Given the description of an element on the screen output the (x, y) to click on. 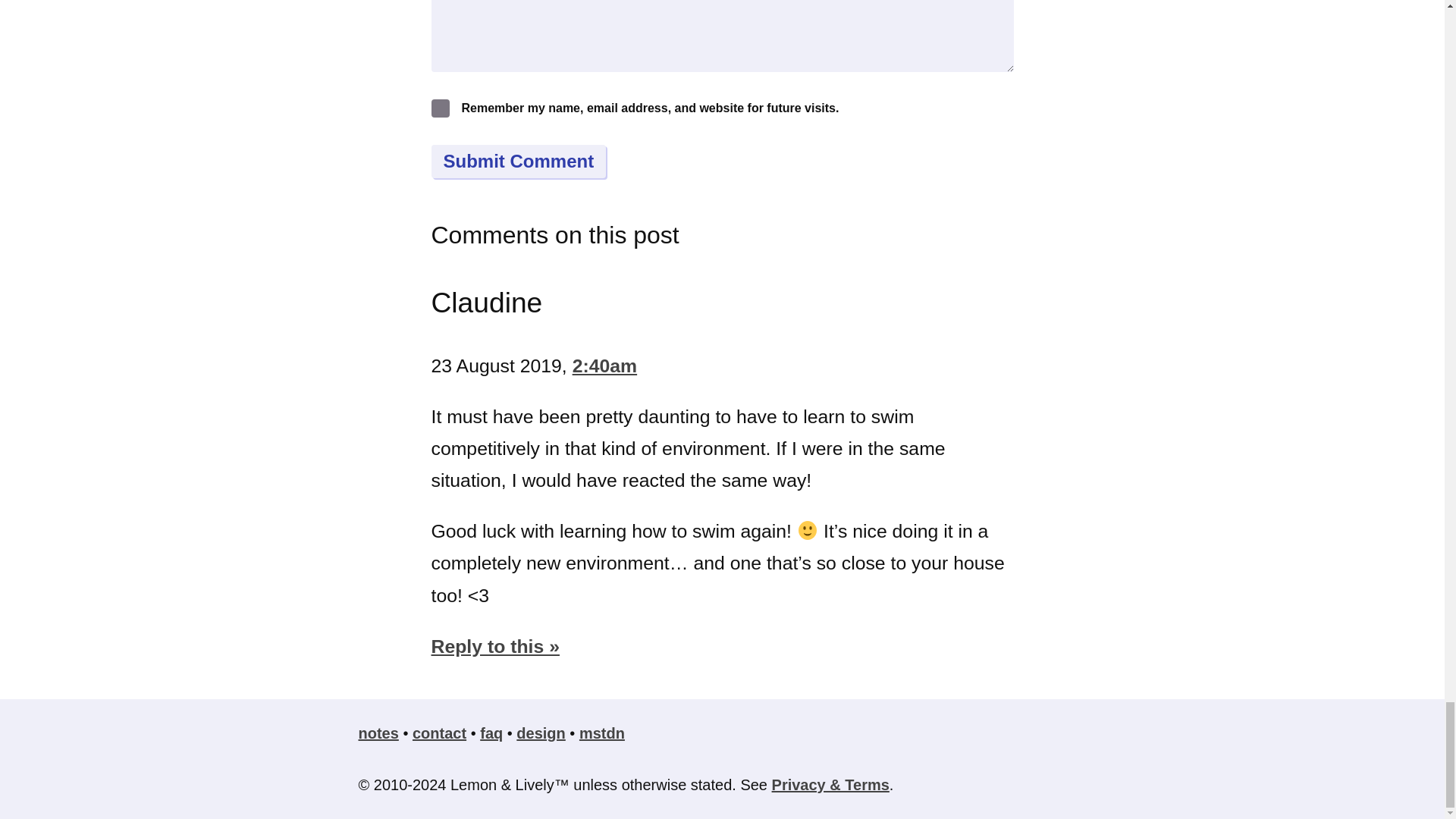
design (540, 733)
notes (377, 733)
2:40am (604, 365)
mstdn (601, 733)
contact (438, 733)
faq (491, 733)
Submit Comment (517, 161)
